Given the description of an element on the screen output the (x, y) to click on. 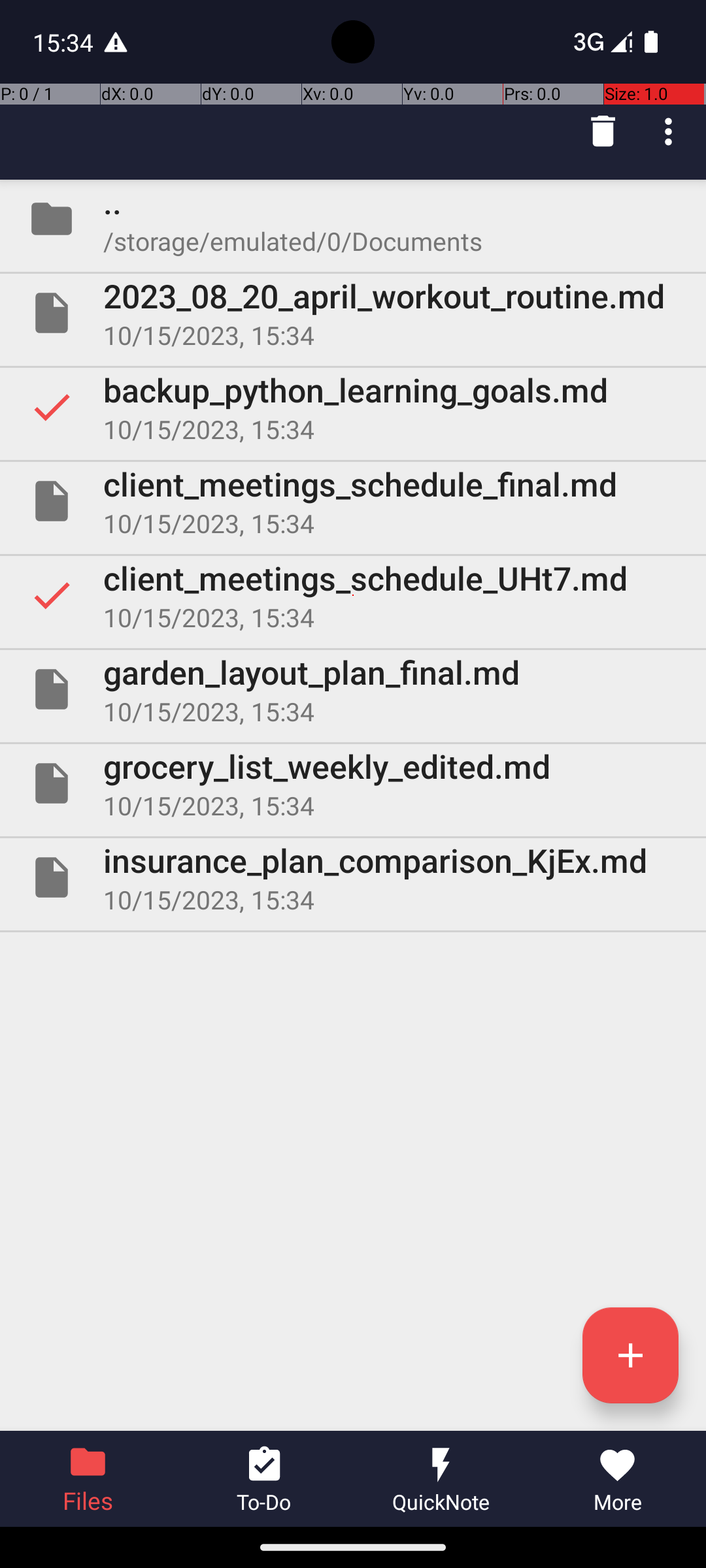
File 2023_08_20_april_workout_routine.md  Element type: android.widget.LinearLayout (353, 312)
Selected backup_python_learning_goals.md  Element type: android.widget.LinearLayout (353, 406)
File client_meetings_schedule_final.md  Element type: android.widget.LinearLayout (353, 500)
Selected client_meetings_schedule_UHt7.md 10/15/2023, 15:34 Element type: android.widget.LinearLayout (353, 594)
File garden_layout_plan_final.md  Element type: android.widget.LinearLayout (353, 689)
File grocery_list_weekly_edited.md  Element type: android.widget.LinearLayout (353, 783)
File insurance_plan_comparison_KjEx.md  Element type: android.widget.LinearLayout (353, 877)
